Given the description of an element on the screen output the (x, y) to click on. 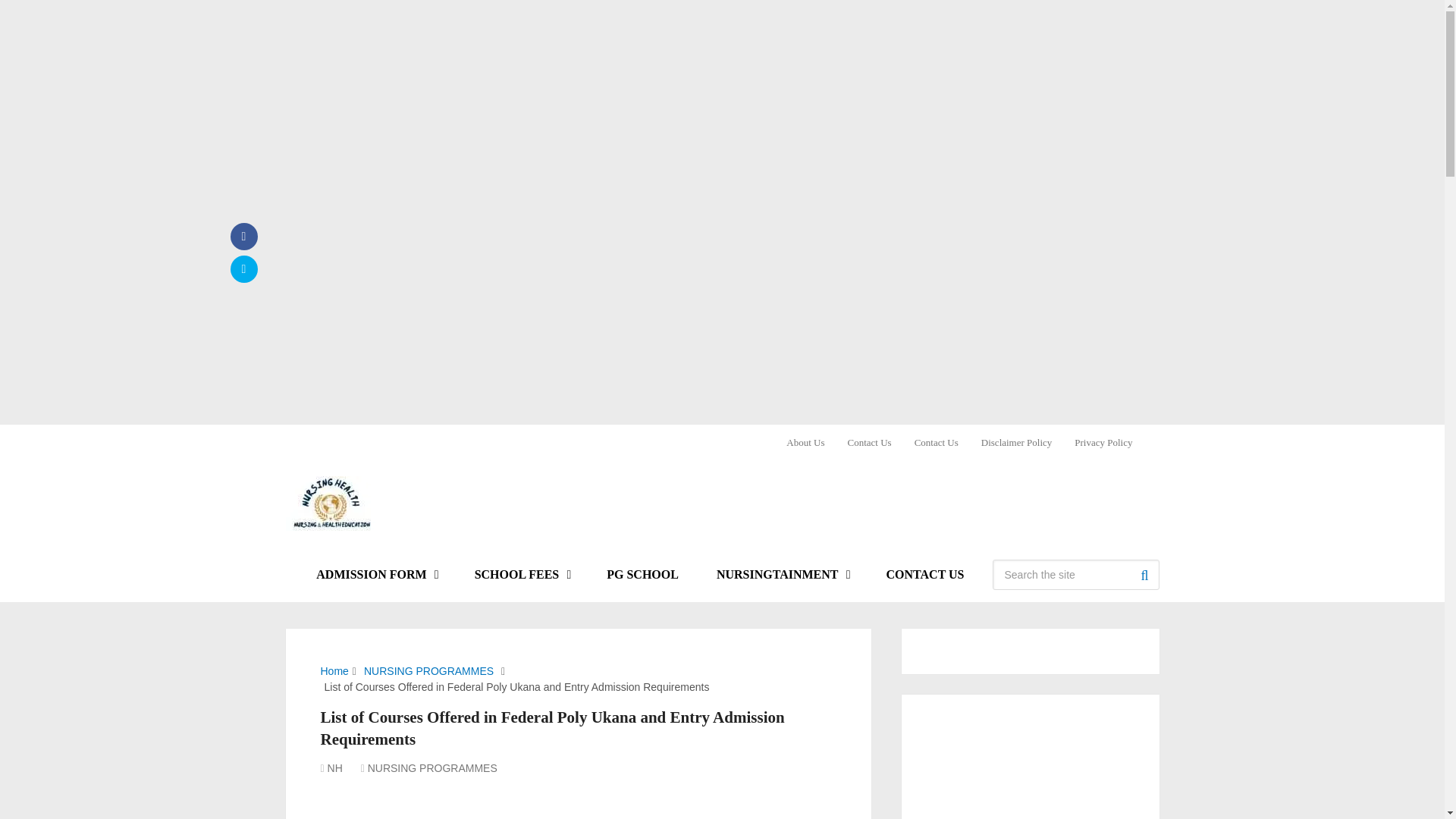
Contact Us (868, 442)
About Us (810, 442)
Home (333, 671)
View all posts in NURSING PROGRAMMES (432, 767)
Search (1143, 574)
Contact Us (935, 442)
ADMISSION FORM (375, 574)
PG SCHOOL (642, 574)
SCHOOL FEES (521, 574)
